Given the description of an element on the screen output the (x, y) to click on. 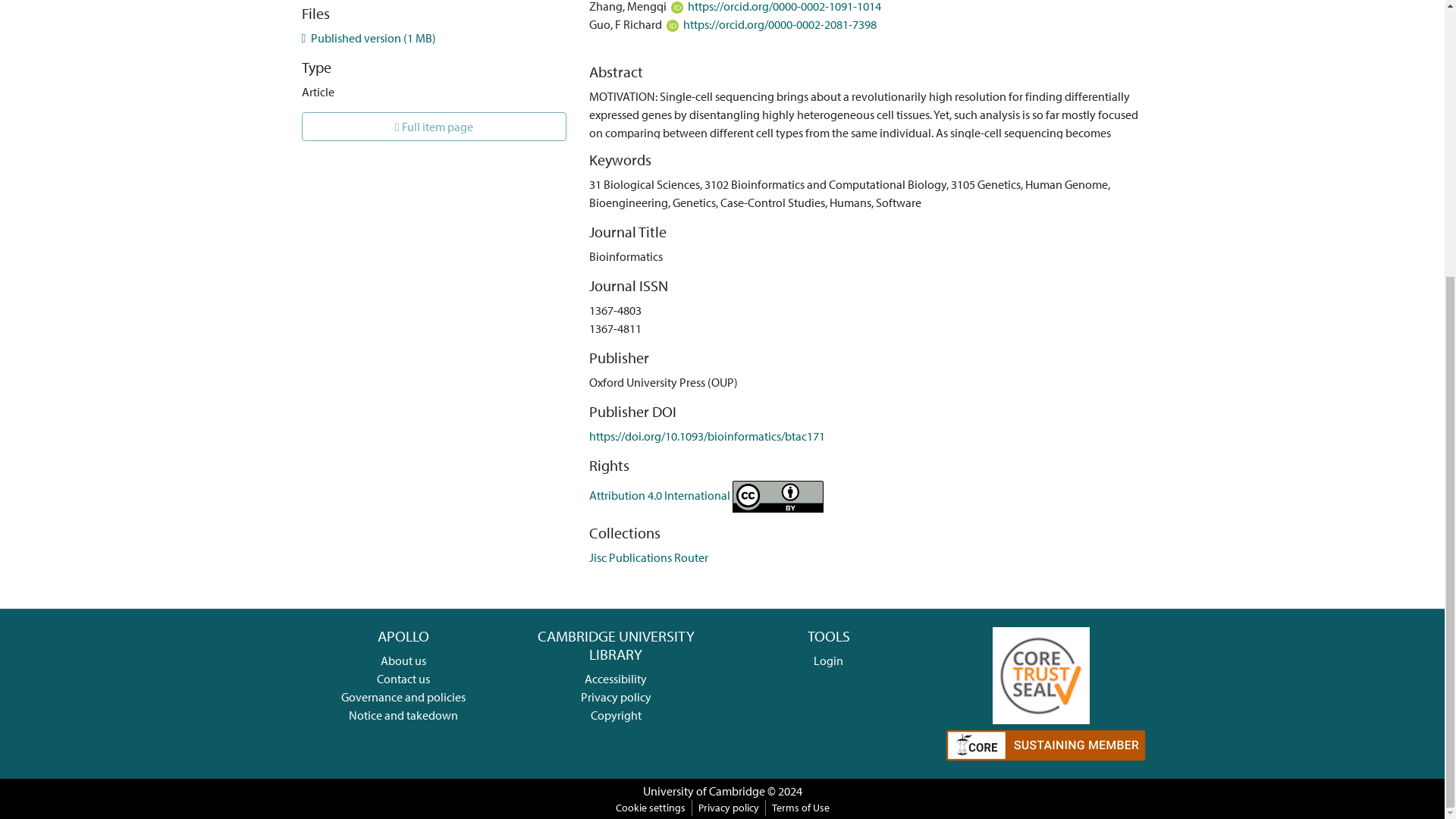
Apollo CTS full application (1040, 673)
Full item page (434, 126)
Jisc Publications Router (648, 557)
Attribution 4.0 International (706, 494)
